Given the description of an element on the screen output the (x, y) to click on. 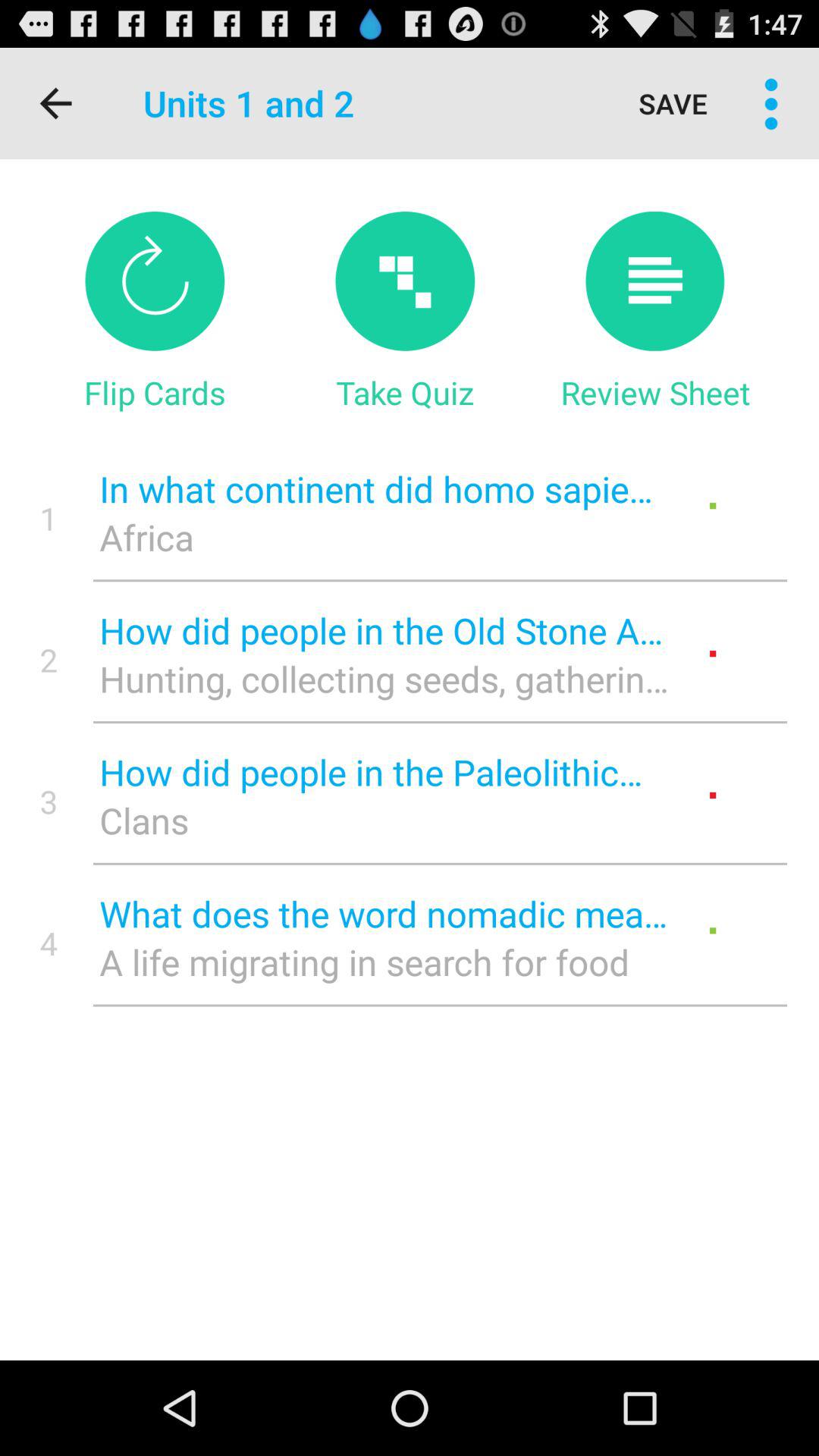
tap the item above the in what continent item (655, 392)
